Given the description of an element on the screen output the (x, y) to click on. 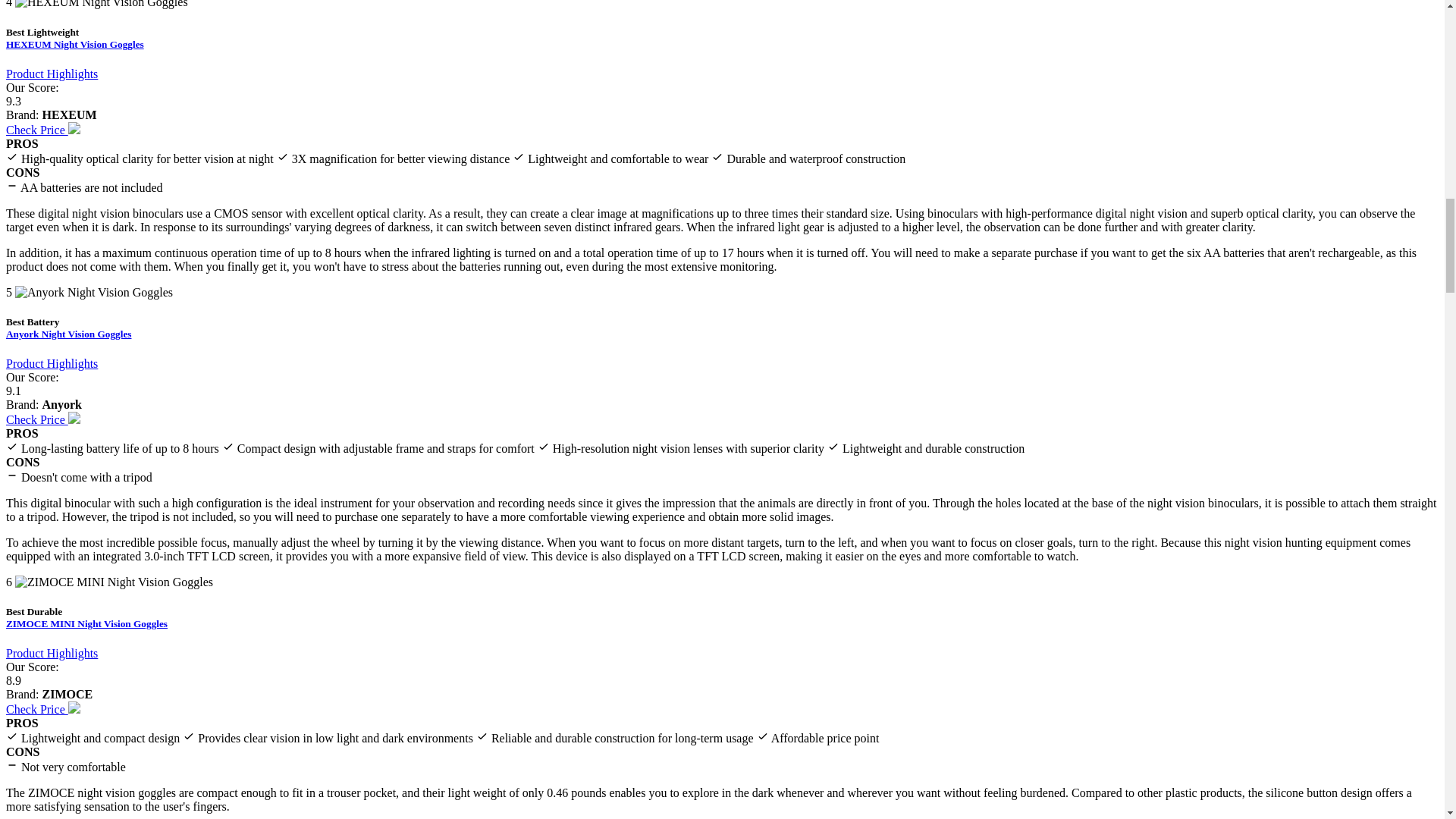
Anyork Night Vision Goggles (68, 333)
Product Highlights (51, 363)
Product Highlights (51, 73)
Check Price (42, 419)
ZIMOCE MINI Night Vision Goggles (86, 623)
Product Highlights (51, 653)
HEXEUM Night Vision Goggles (74, 43)
Check Price (42, 129)
